Given the description of an element on the screen output the (x, y) to click on. 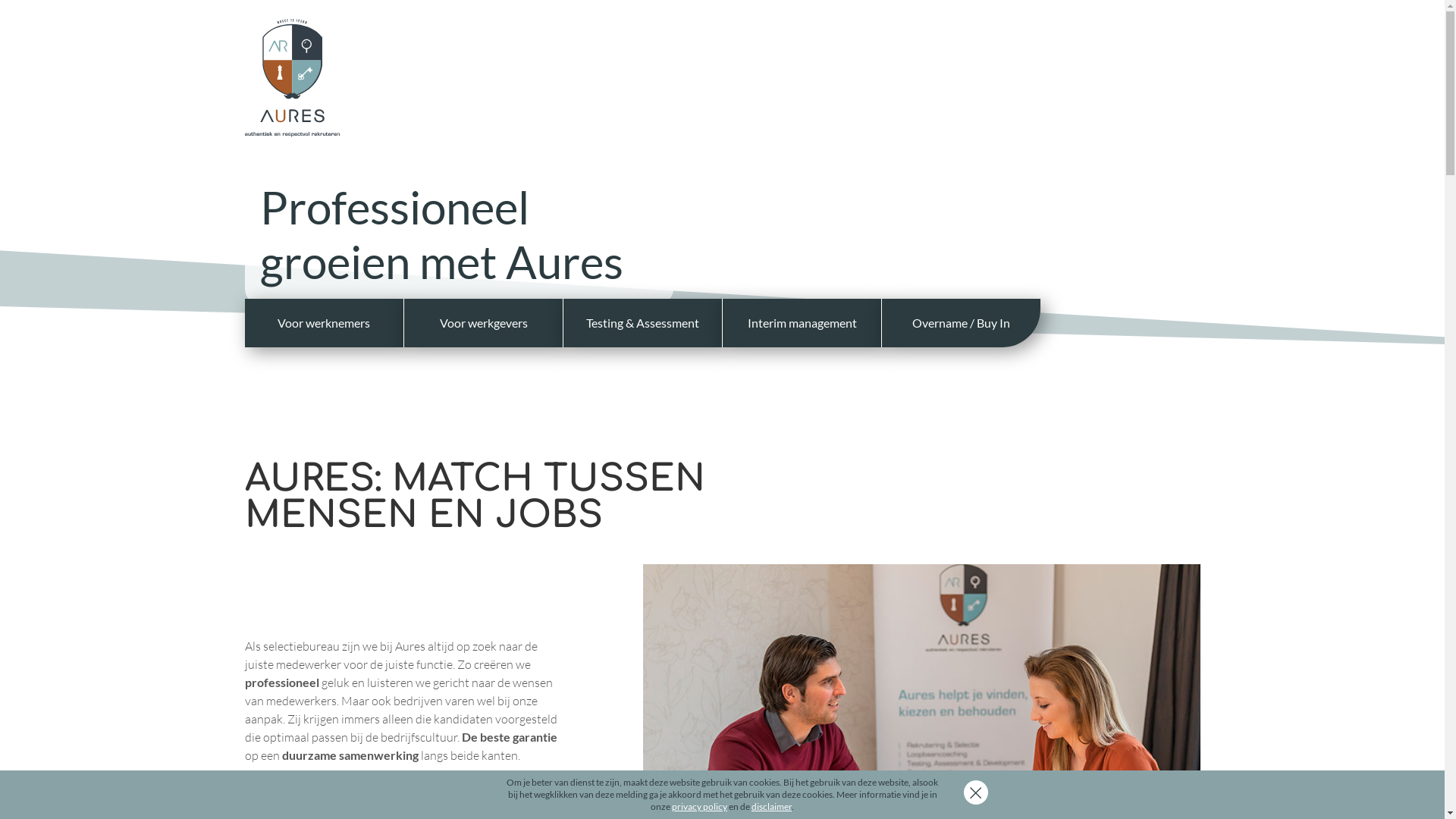
Voor werkgevers Element type: text (483, 322)
disclaimer Element type: text (771, 806)
Interim management Element type: text (801, 322)
privacy policy Element type: text (699, 806)
Testing & Assessment Element type: text (642, 322)
Voor werknemers Element type: text (323, 322)
Overname / Buy In Element type: text (960, 322)
